Given the description of an element on the screen output the (x, y) to click on. 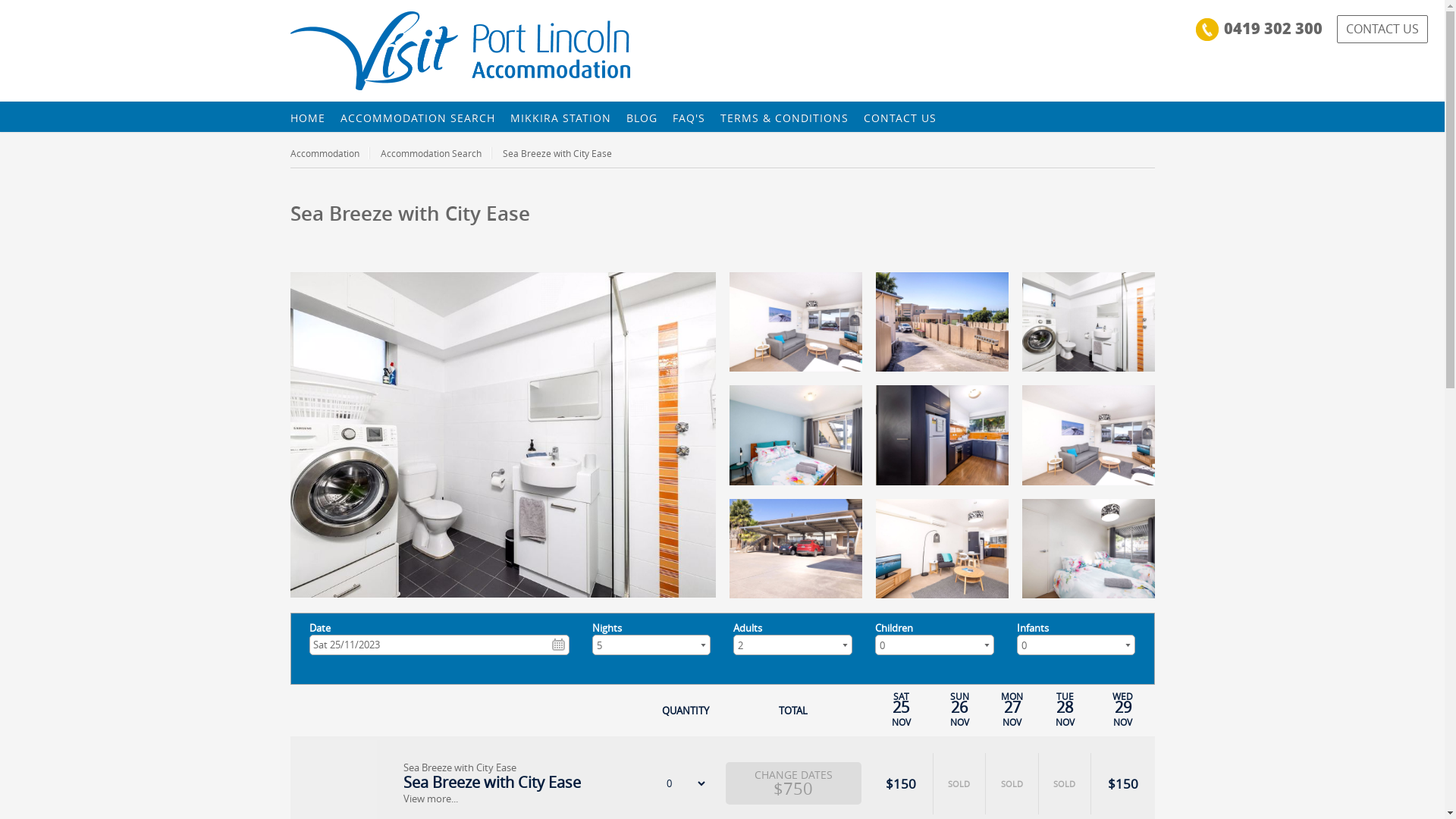
TUE Element type: text (1065, 696)
CONTACT US Element type: text (1381, 29)
Accommodation Element type: text (329, 153)
NOV Element type: text (958, 722)
BLOG Element type: text (641, 117)
NOV Element type: text (1122, 722)
29 Element type: text (1122, 707)
MIKKIRA STATION Element type: text (559, 117)
NOV Element type: text (901, 722)
WED Element type: text (1122, 696)
25 Element type: text (901, 707)
CONTACT US Element type: text (898, 117)
MON Element type: text (1011, 696)
Accommodation Search Element type: text (436, 153)
27 Element type: text (1011, 707)
CHANGE DATES
$750 Element type: text (793, 783)
SUN Element type: text (958, 696)
HOME Element type: text (306, 117)
TERMS & CONDITIONS Element type: text (784, 117)
Visit Port Lincoln | Visit Port Lincoln   Apartments Element type: hover (459, 50)
28 Element type: text (1065, 707)
Sea Breeze with City Ease Element type: text (491, 782)
FAQ'S Element type: text (687, 117)
26 Element type: text (958, 707)
SAT Element type: text (901, 696)
0419 302 300 Element type: text (1272, 27)
NOV Element type: text (1065, 722)
ACCOMMODATION SEARCH Element type: text (416, 117)
NOV Element type: text (1011, 722)
